Given the description of an element on the screen output the (x, y) to click on. 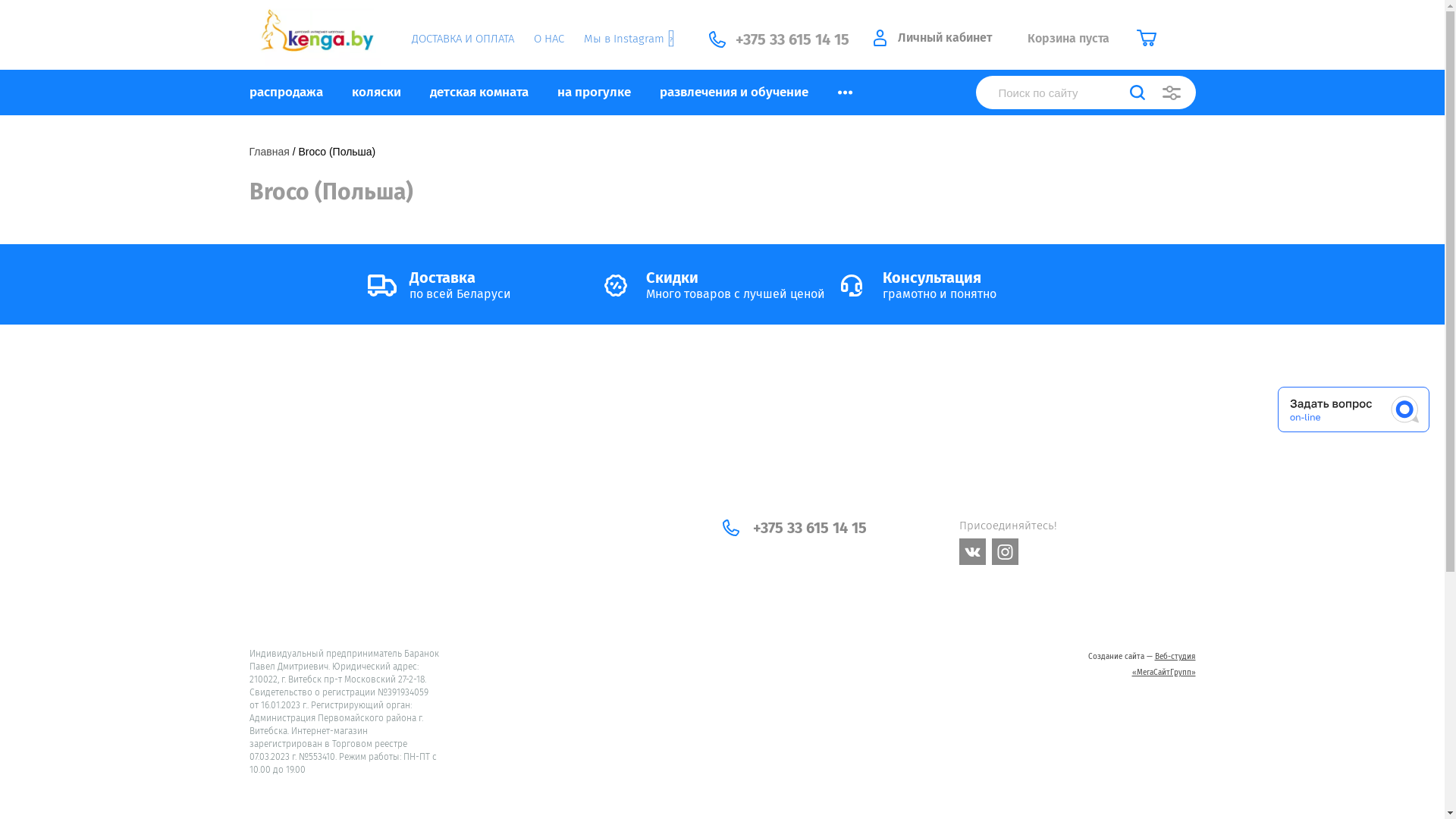
+375 33 615 14 15 Element type: text (809, 527)
... Element type: text (844, 91)
+375 33 615 14 15 Element type: text (792, 39)
